Given the description of an element on the screen output the (x, y) to click on. 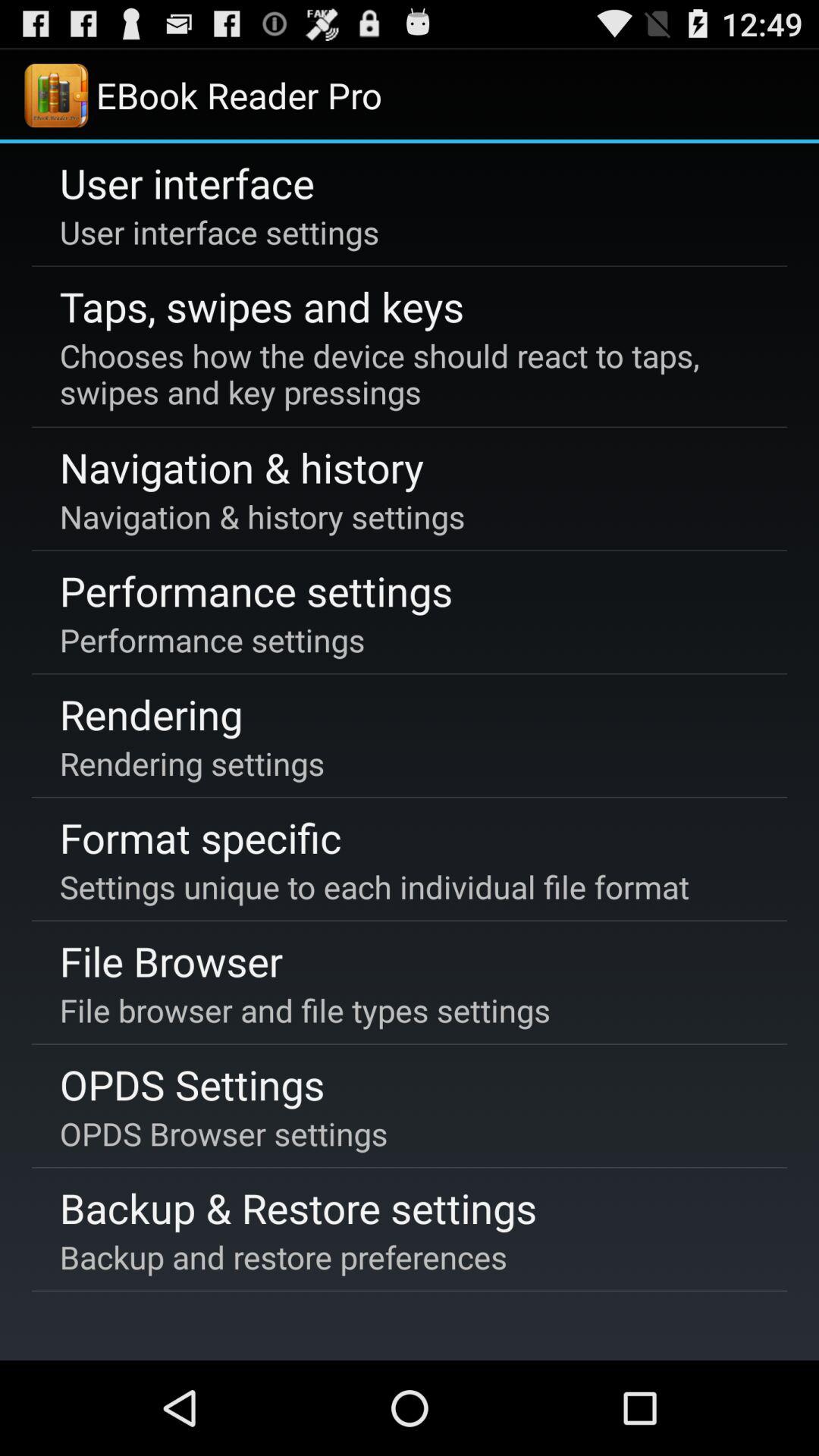
click the icon below the taps swipes and item (407, 373)
